Given the description of an element on the screen output the (x, y) to click on. 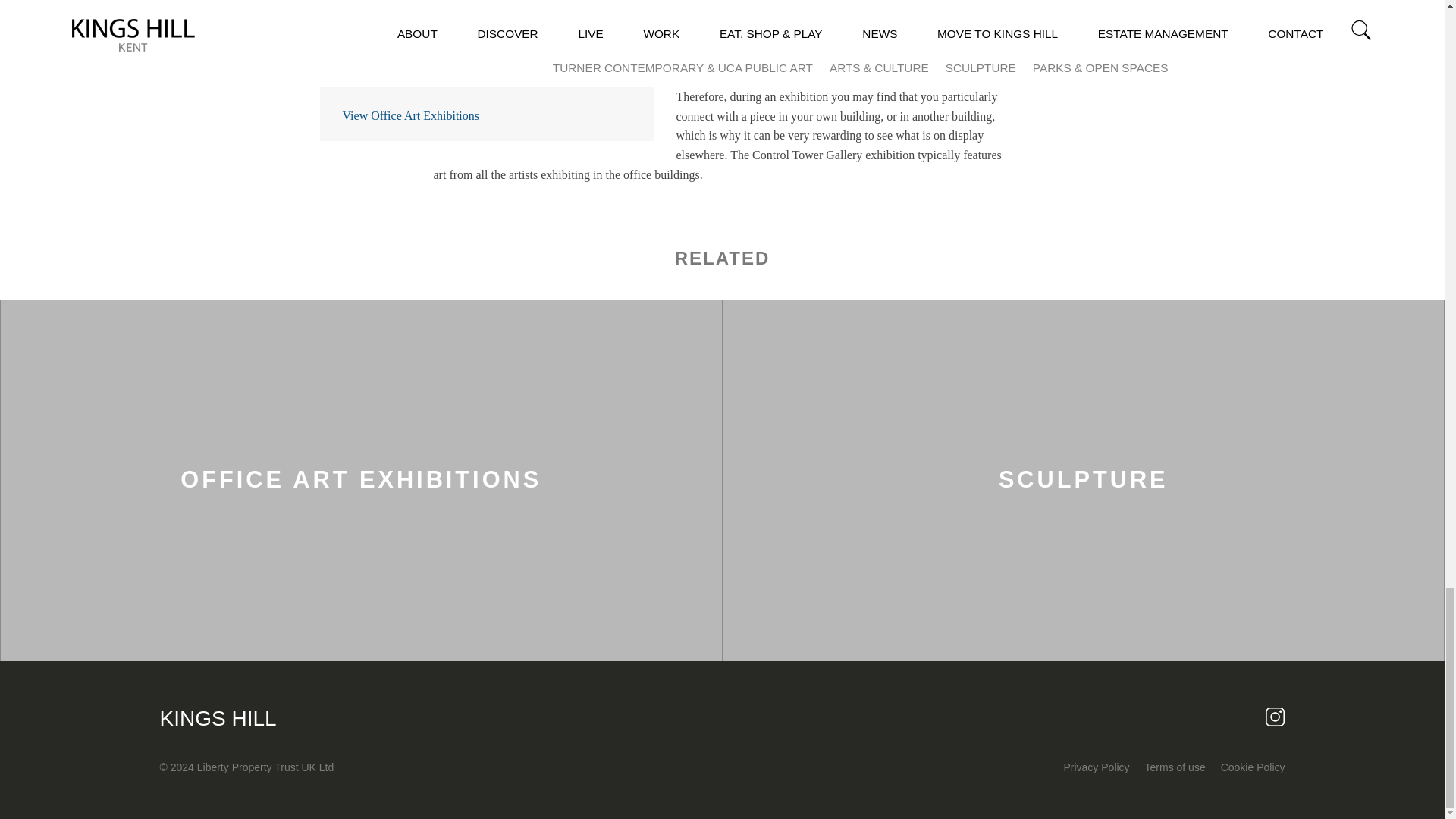
View Office Art Exhibitions (411, 115)
Terms of use (1174, 767)
Cookie Policy (1253, 767)
Privacy Policy (1095, 767)
